Given the description of an element on the screen output the (x, y) to click on. 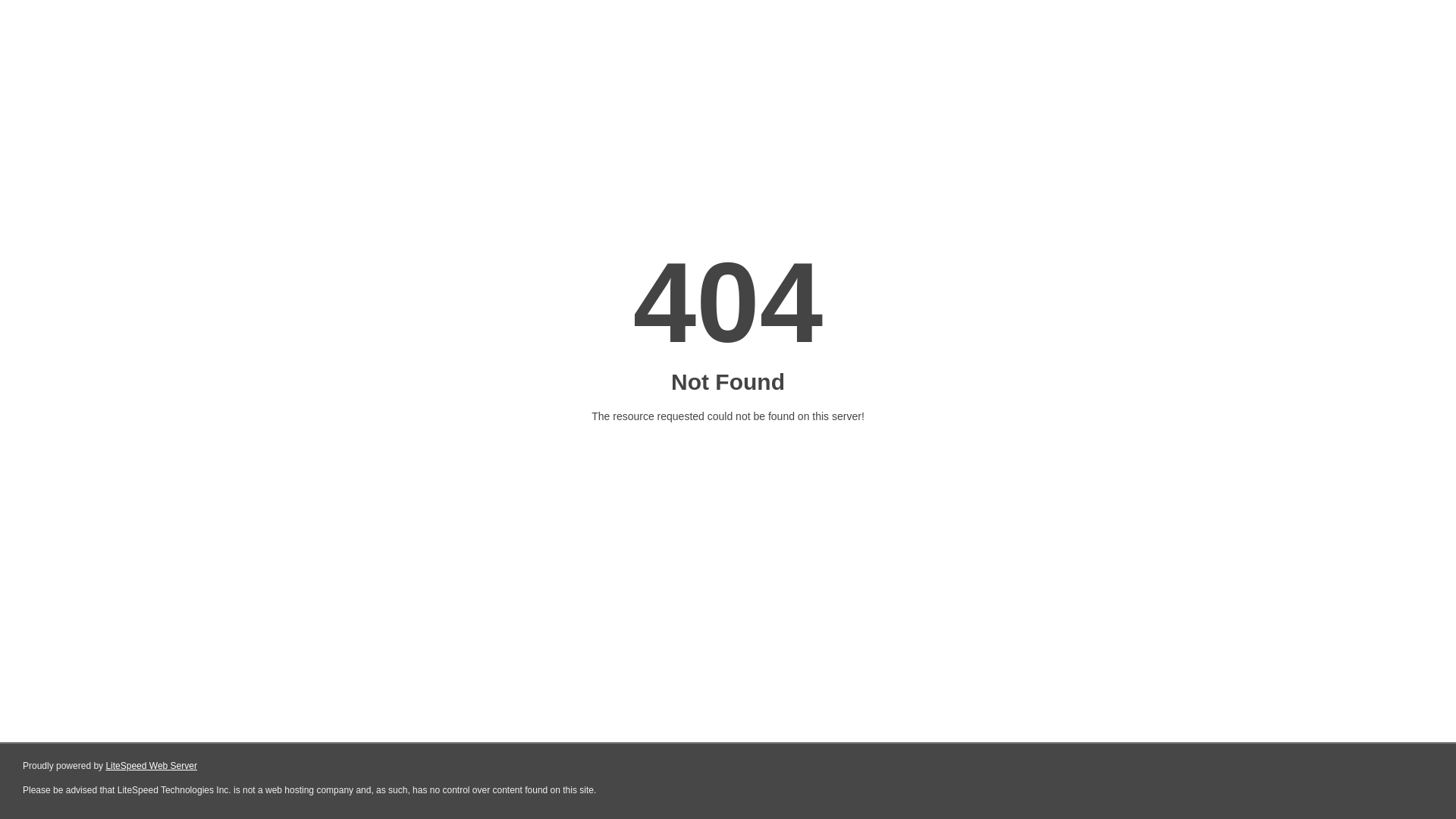
LiteSpeed Web Server Element type: text (151, 765)
